Given the description of an element on the screen output the (x, y) to click on. 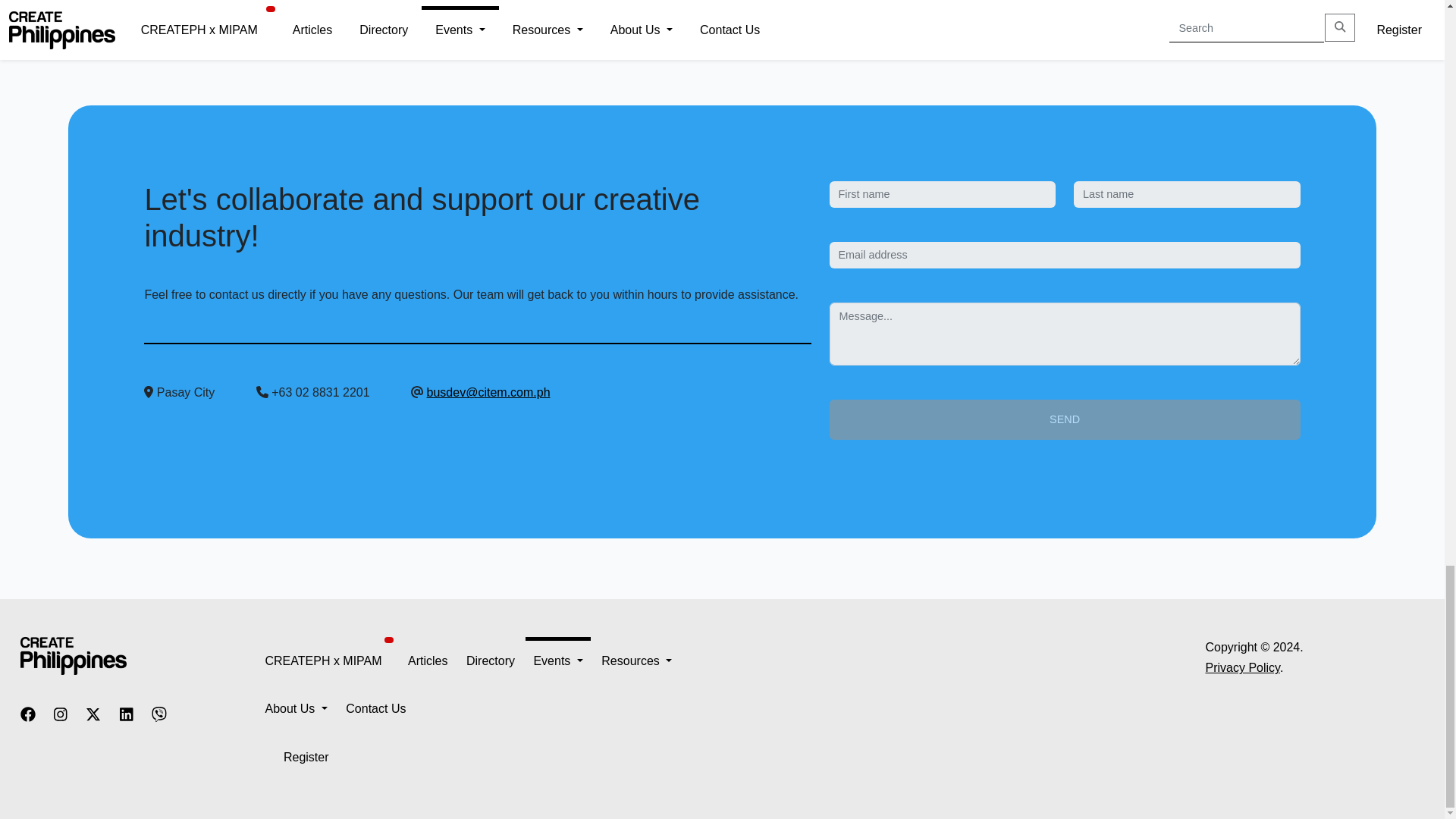
Articles (426, 660)
CREATEPH x MIPAM (322, 660)
CREATEPhilippines (73, 654)
About Us (295, 708)
Directory (490, 660)
Contact Us (376, 708)
Events (557, 660)
SEND (1064, 419)
Resources (636, 660)
